Given the description of an element on the screen output the (x, y) to click on. 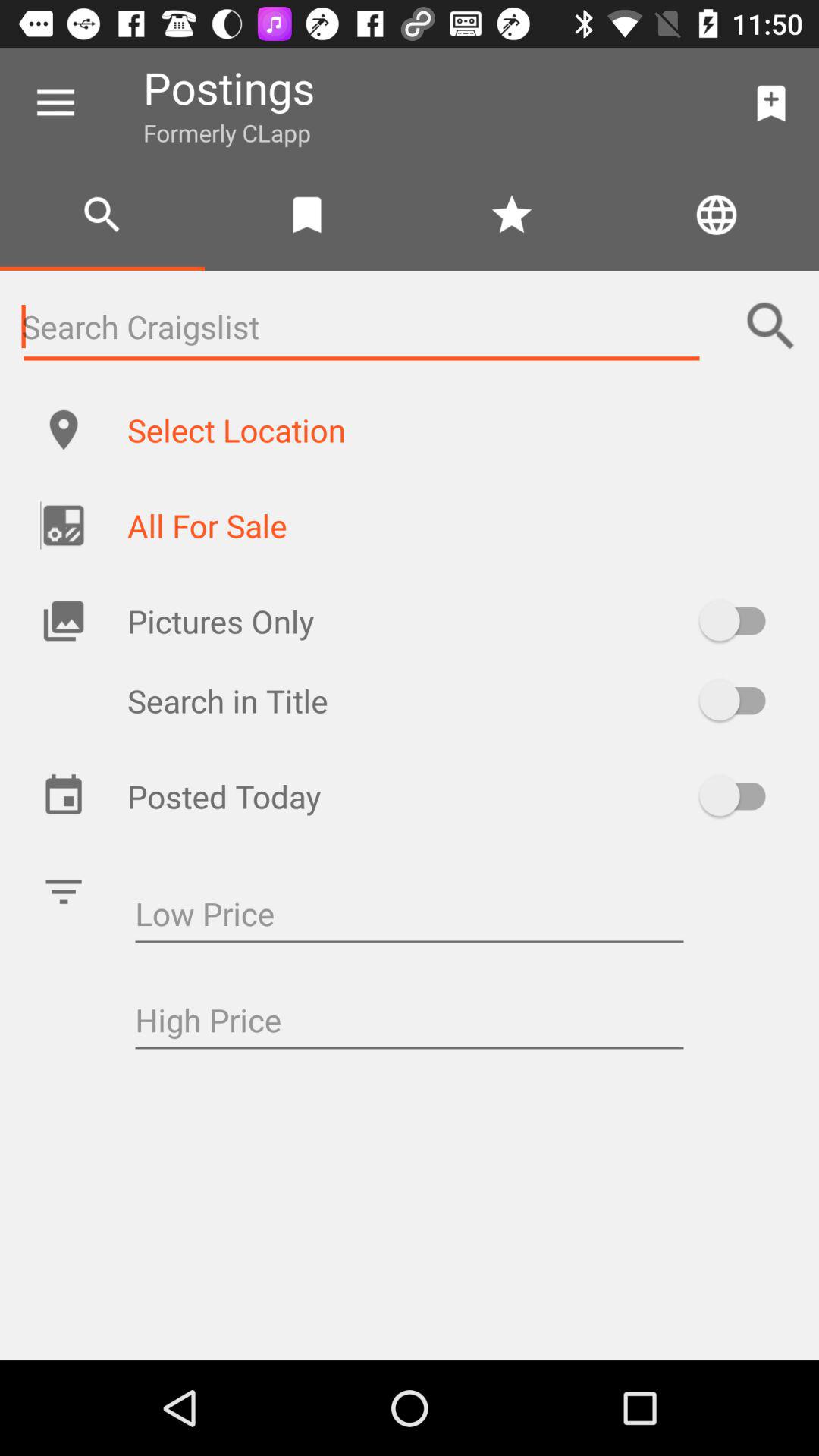
select high price input (409, 1021)
